Given the description of an element on the screen output the (x, y) to click on. 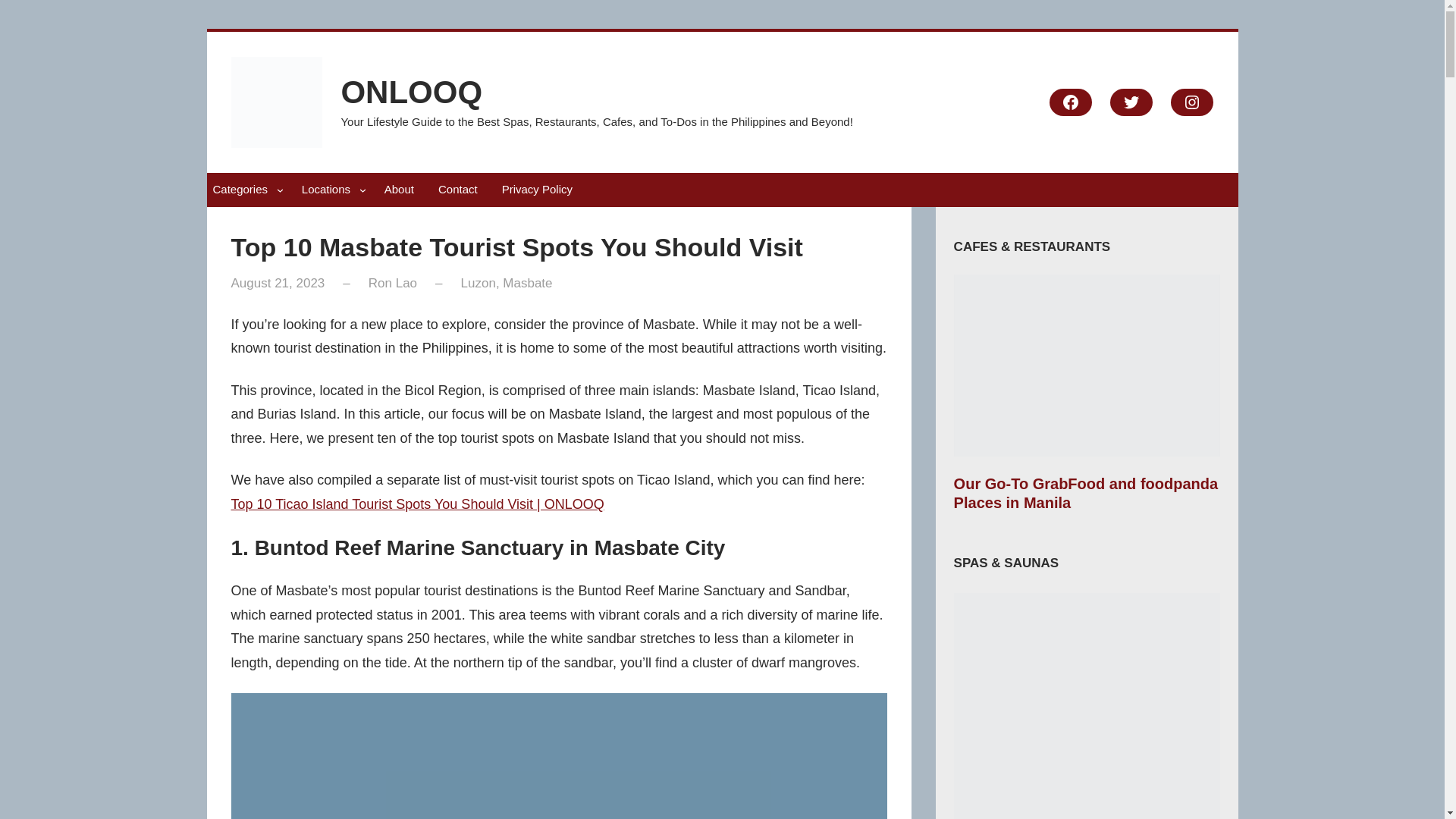
Masbate (526, 283)
ONLOOQ (410, 91)
Instagram (1191, 102)
Luzon (478, 283)
Locations (325, 189)
Twitter (1131, 102)
Privacy Policy (537, 189)
Contact (457, 189)
Facebook (1070, 102)
About (399, 189)
